Given the description of an element on the screen output the (x, y) to click on. 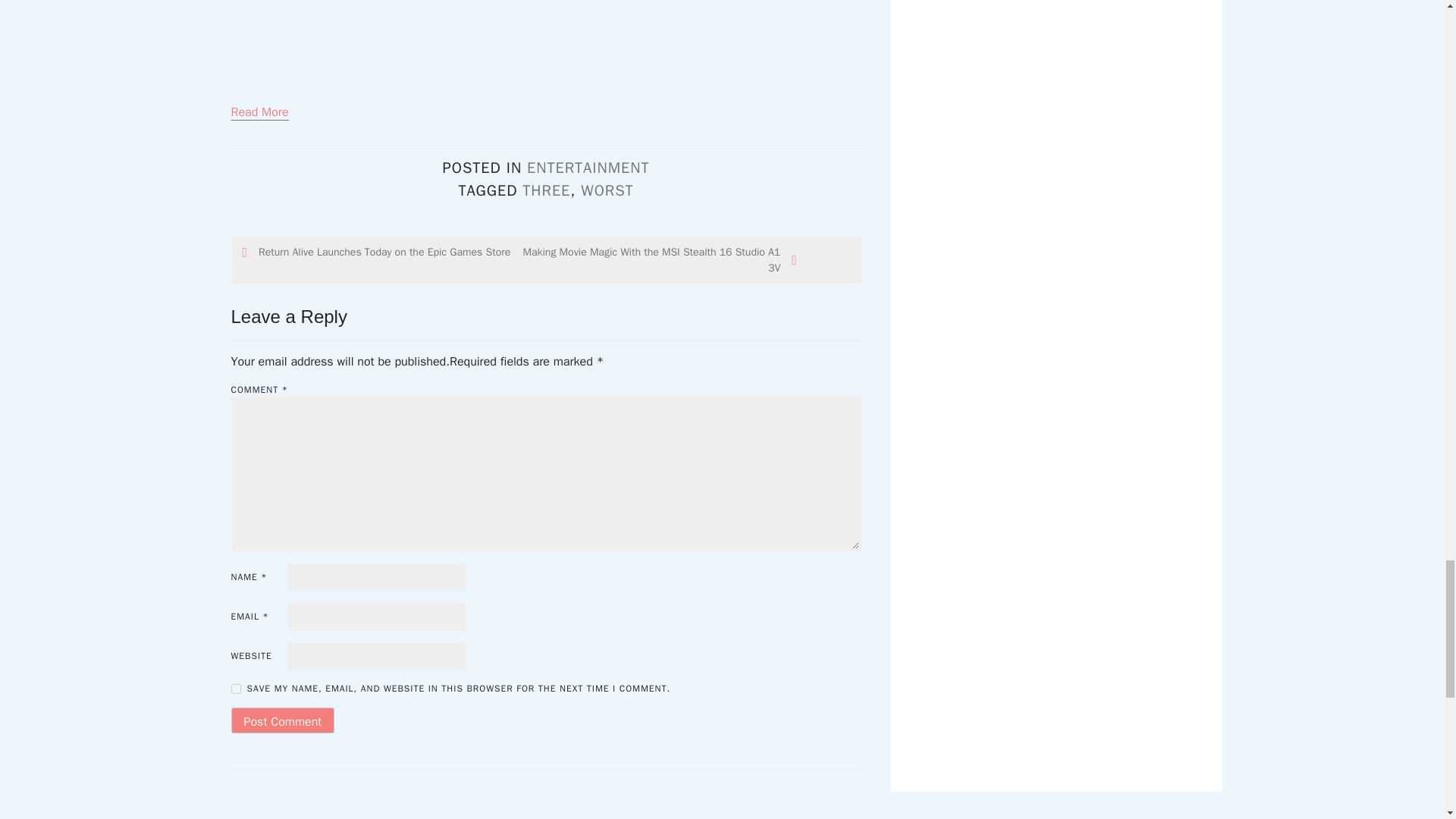
ENTERTAINMENT (588, 167)
WORST (606, 189)
THREE (546, 189)
yes (235, 688)
Post Comment (282, 720)
Making Movie Magic With the MSI Stealth 16 Studio A13V (657, 260)
Read More (259, 112)
Post Comment (282, 720)
Return Alive Launches Today on the Epic Games Store (381, 252)
